Given the description of an element on the screen output the (x, y) to click on. 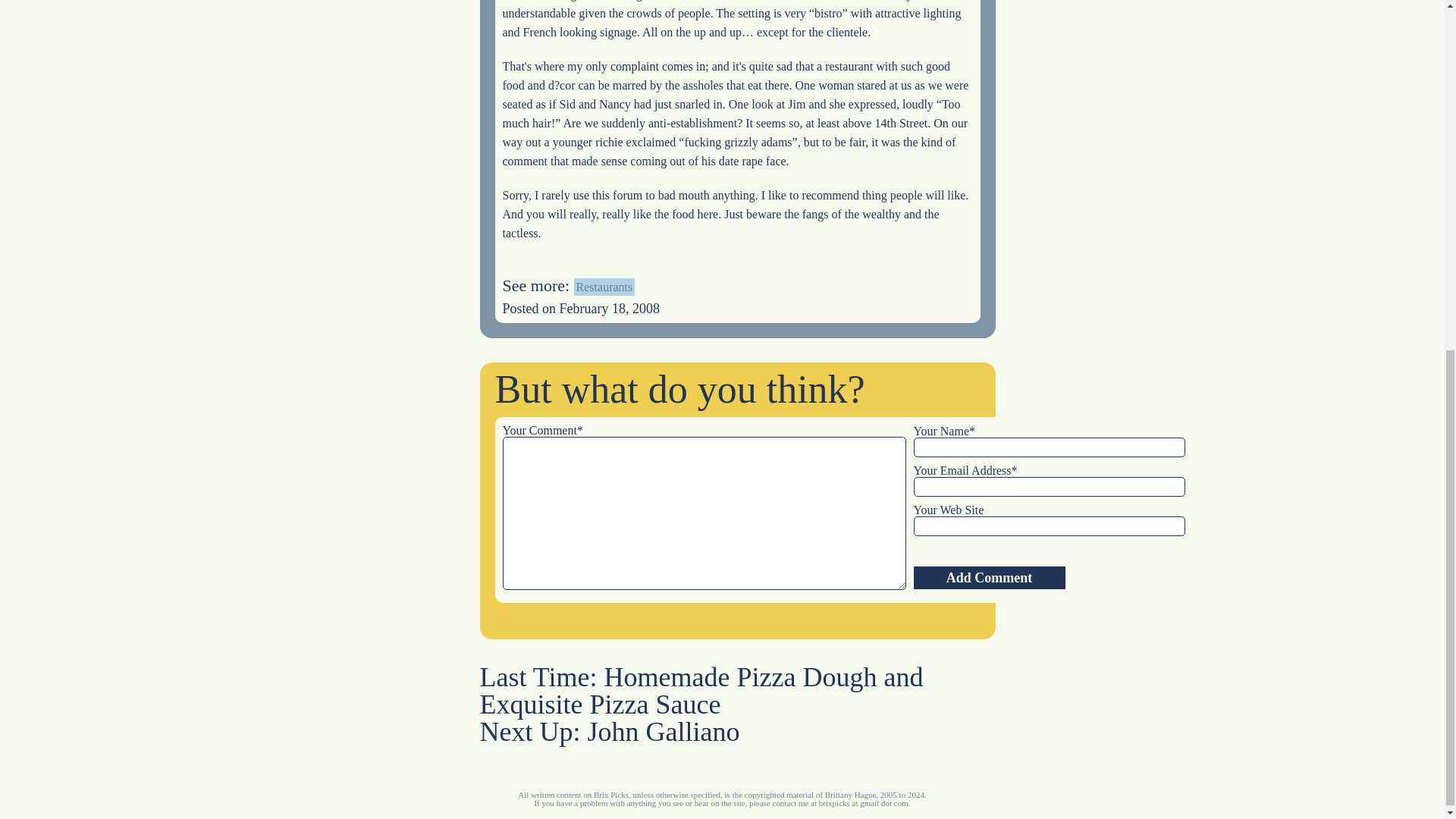
Add Comment (988, 577)
Homemade Pizza Dough and Exquisite Pizza Sauce (701, 690)
John Galliano (662, 731)
Add Comment (988, 577)
Restaurants (603, 286)
